Given the description of an element on the screen output the (x, y) to click on. 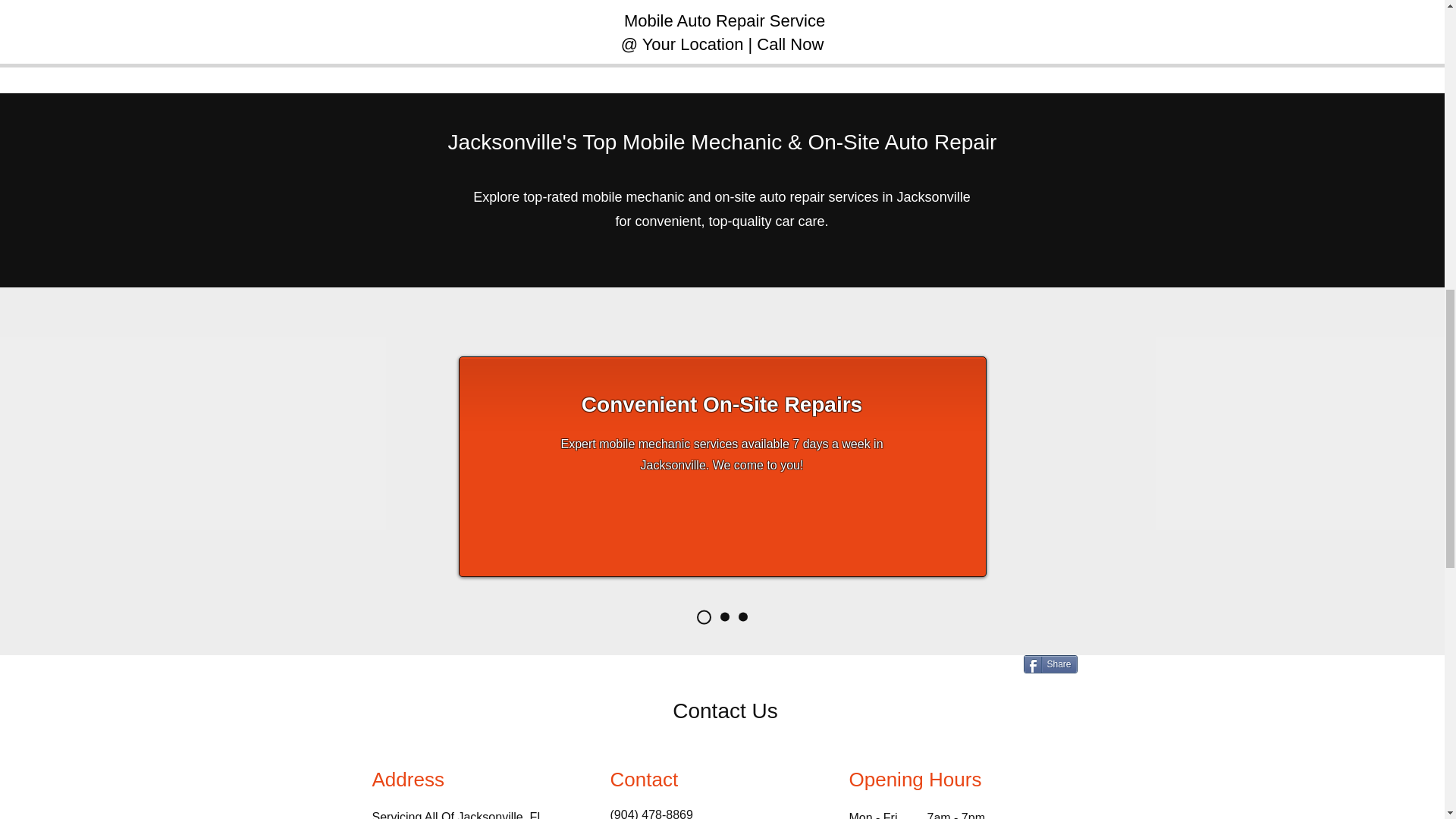
Share (1050, 664)
Share (1050, 664)
